Given the description of an element on the screen output the (x, y) to click on. 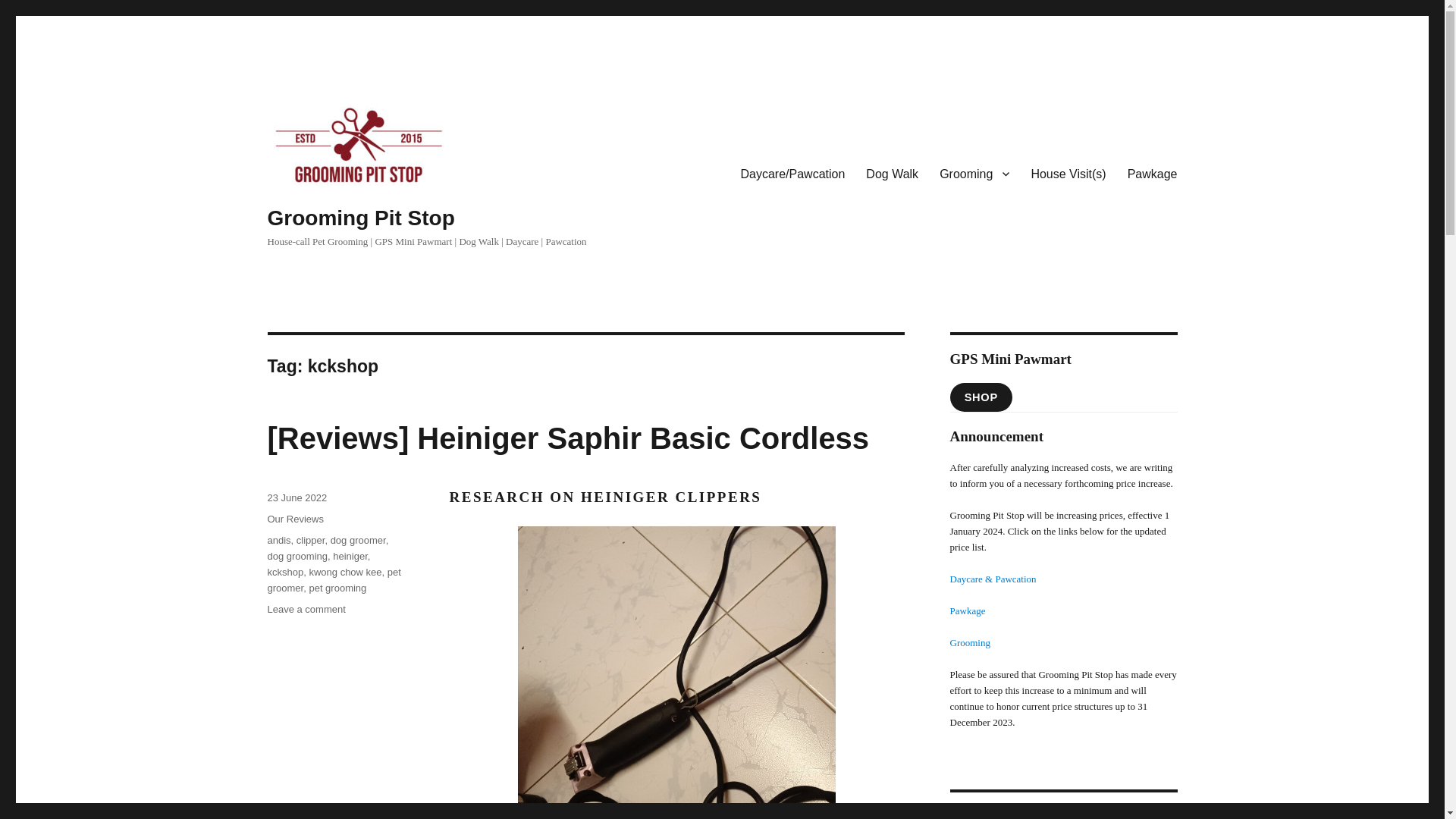
kwong chow kee (344, 572)
pet grooming (337, 587)
Grooming (969, 642)
andis (277, 540)
clipper (310, 540)
dog groomer (357, 540)
Our Reviews (294, 518)
Grooming (974, 173)
23 June 2022 (296, 497)
kckshop (284, 572)
Dog Walk (892, 173)
pet groomer (333, 579)
Grooming Pit Stop (360, 218)
heiniger (350, 555)
Pawkage (1152, 173)
